Given the description of an element on the screen output the (x, y) to click on. 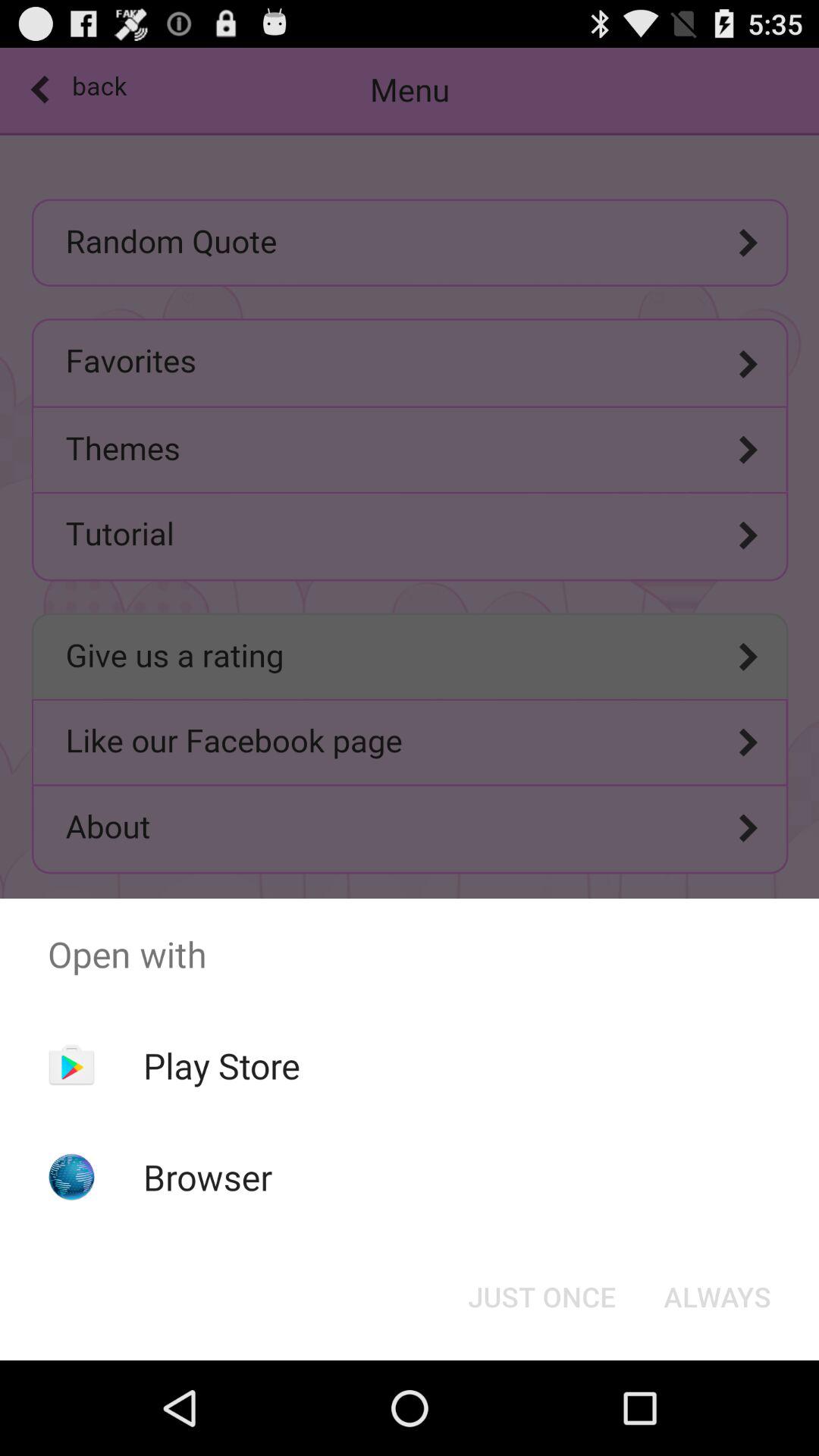
flip to always (717, 1296)
